Given the description of an element on the screen output the (x, y) to click on. 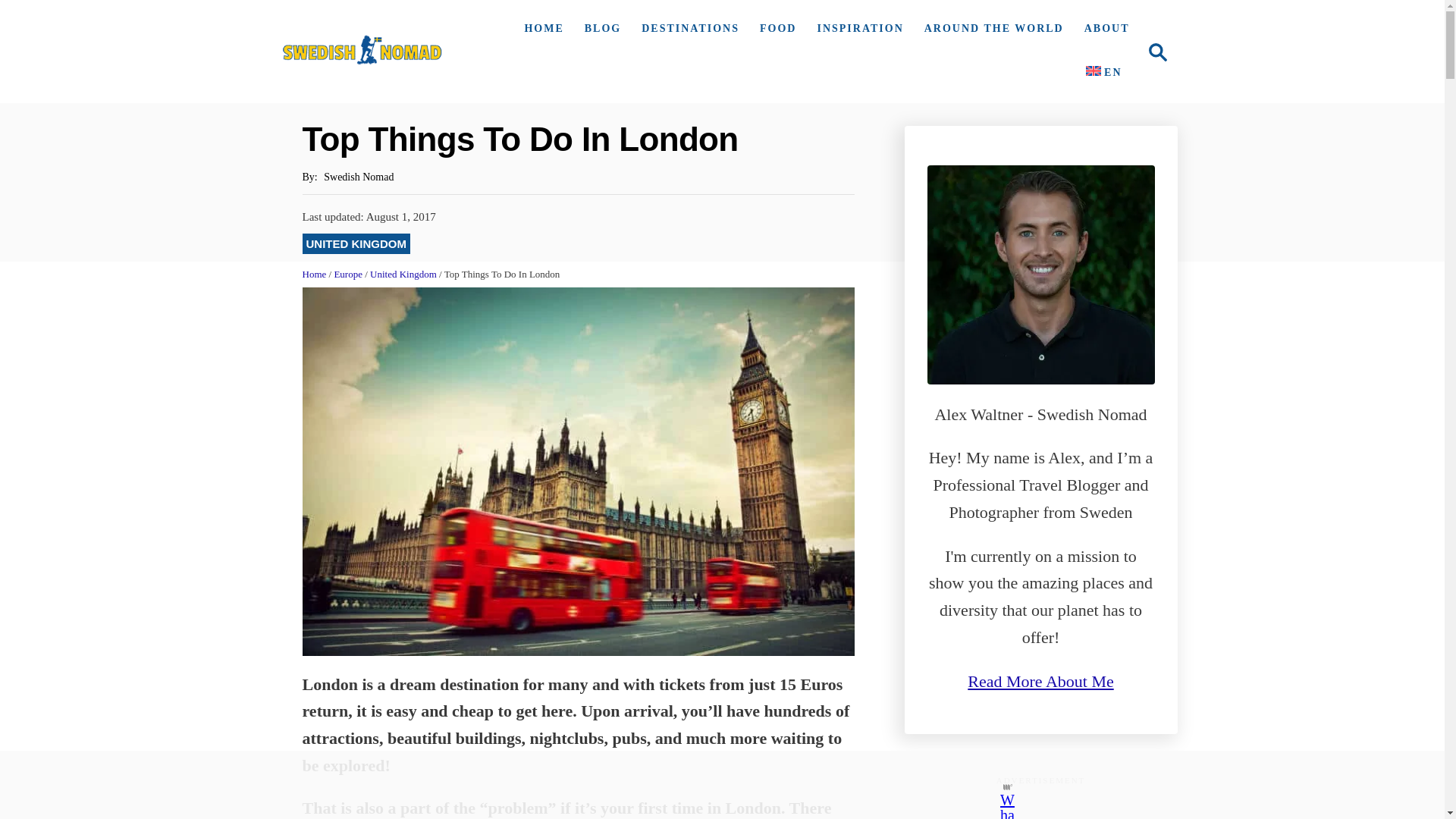
3rd party ad content (1152, 50)
3rd party ad content (1040, 804)
Magnifying Glass (708, 785)
DESTINATIONS (1156, 52)
HOME (686, 28)
Swedish Nomad (539, 28)
BLOG (362, 51)
EN (598, 28)
